Given the description of an element on the screen output the (x, y) to click on. 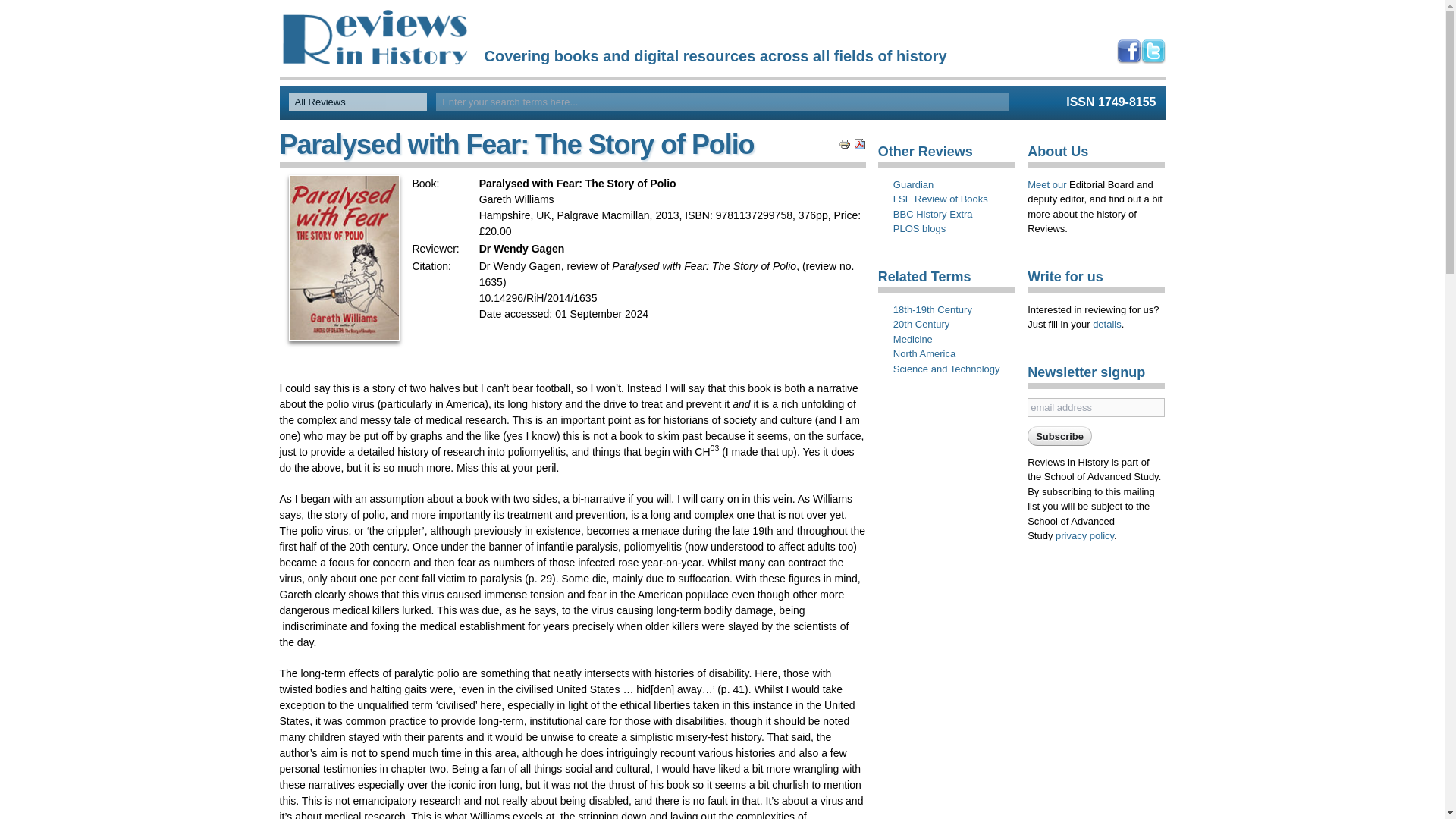
18th-19th Century (932, 309)
Subscribe (1059, 435)
Guardian (913, 184)
PLOS blogs (918, 228)
20th Century (921, 324)
North America (924, 353)
Subscribe (1059, 435)
Medicine (913, 339)
BBC History Extra (932, 214)
LSE Review of Books (940, 199)
